Given the description of an element on the screen output the (x, y) to click on. 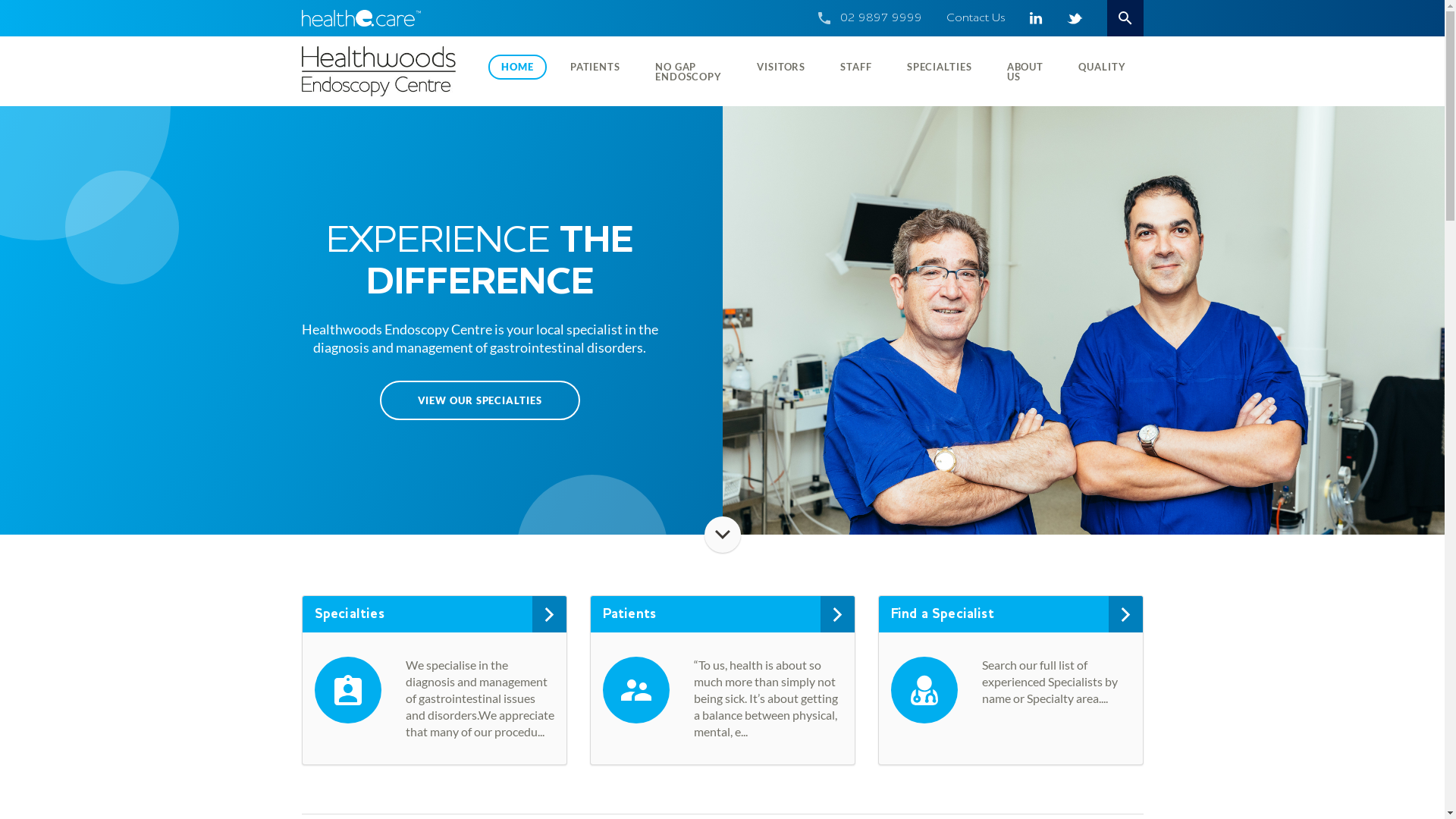
Healthwoods Endoscopy Element type: text (385, 71)
02 9897 9999 Element type: text (881, 18)
HOME
(CURRENT) Element type: text (517, 66)
Twitter - HealtheCareAus Element type: text (1074, 17)
LinkedIn - 292626 Element type: text (1035, 18)
NO GAP ENDOSCOPY Element type: text (688, 71)
STAFF Element type: text (855, 66)
ABOUT US Element type: text (1025, 71)
QUALITY Element type: text (1101, 66)
VISITORS Element type: text (780, 66)
VIEW OUR SPECIALTIES Element type: text (479, 400)
SCROLL TO MAIN CONTENT Element type: text (721, 534)
PATIENTS Element type: text (594, 66)
Contact Us Element type: text (975, 18)
SPECIALTIES Element type: text (939, 66)
